Given the description of an element on the screen output the (x, y) to click on. 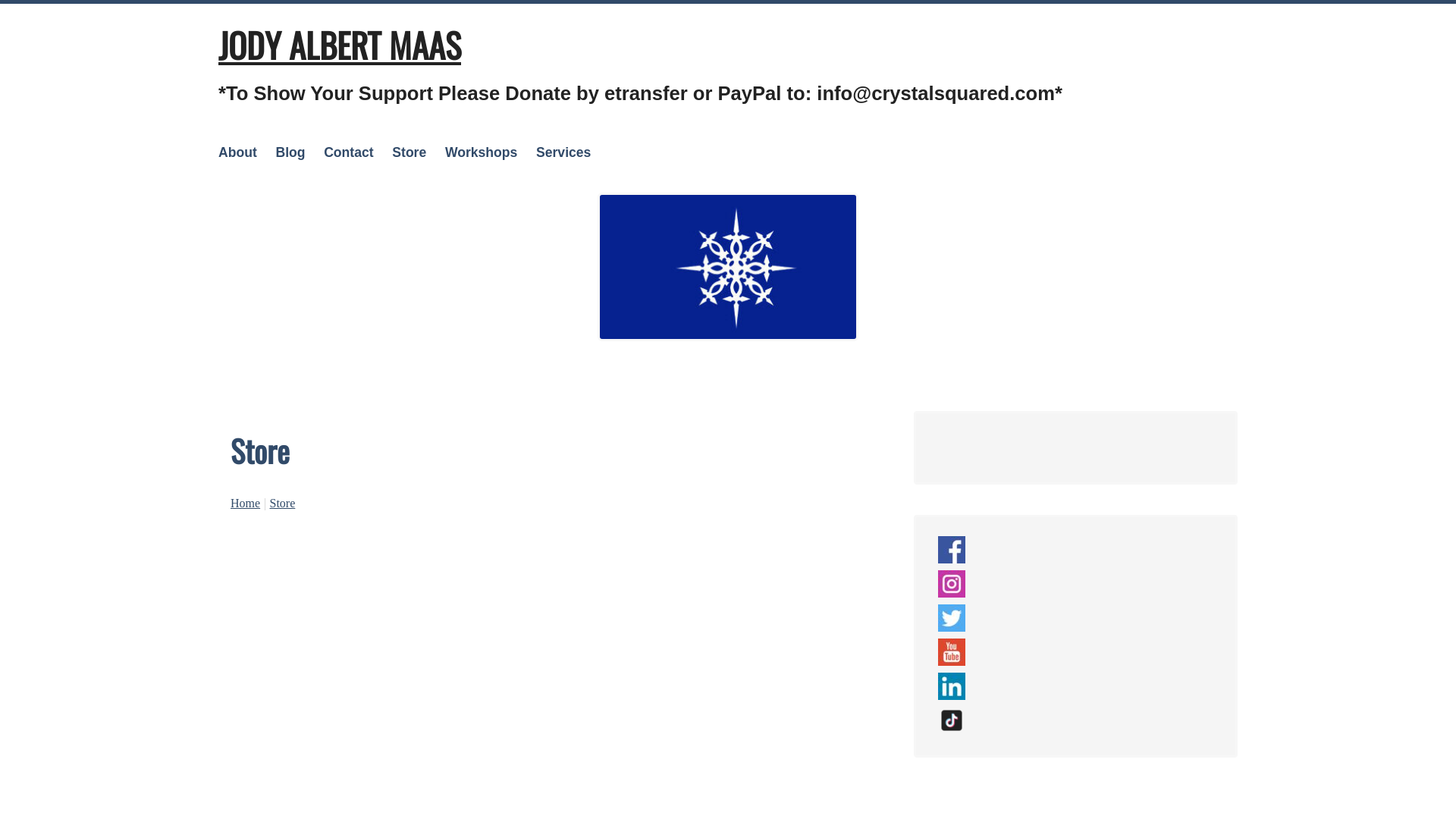
Services Element type: text (563, 151)
Workshops Element type: text (481, 151)
About Element type: text (237, 151)
Blog Element type: text (289, 151)
Contact Element type: text (348, 151)
Home Element type: text (245, 502)
Store Element type: text (409, 151)
JODY ALBERT MAAS Element type: text (339, 44)
Store Element type: text (282, 502)
